Given the description of an element on the screen output the (x, y) to click on. 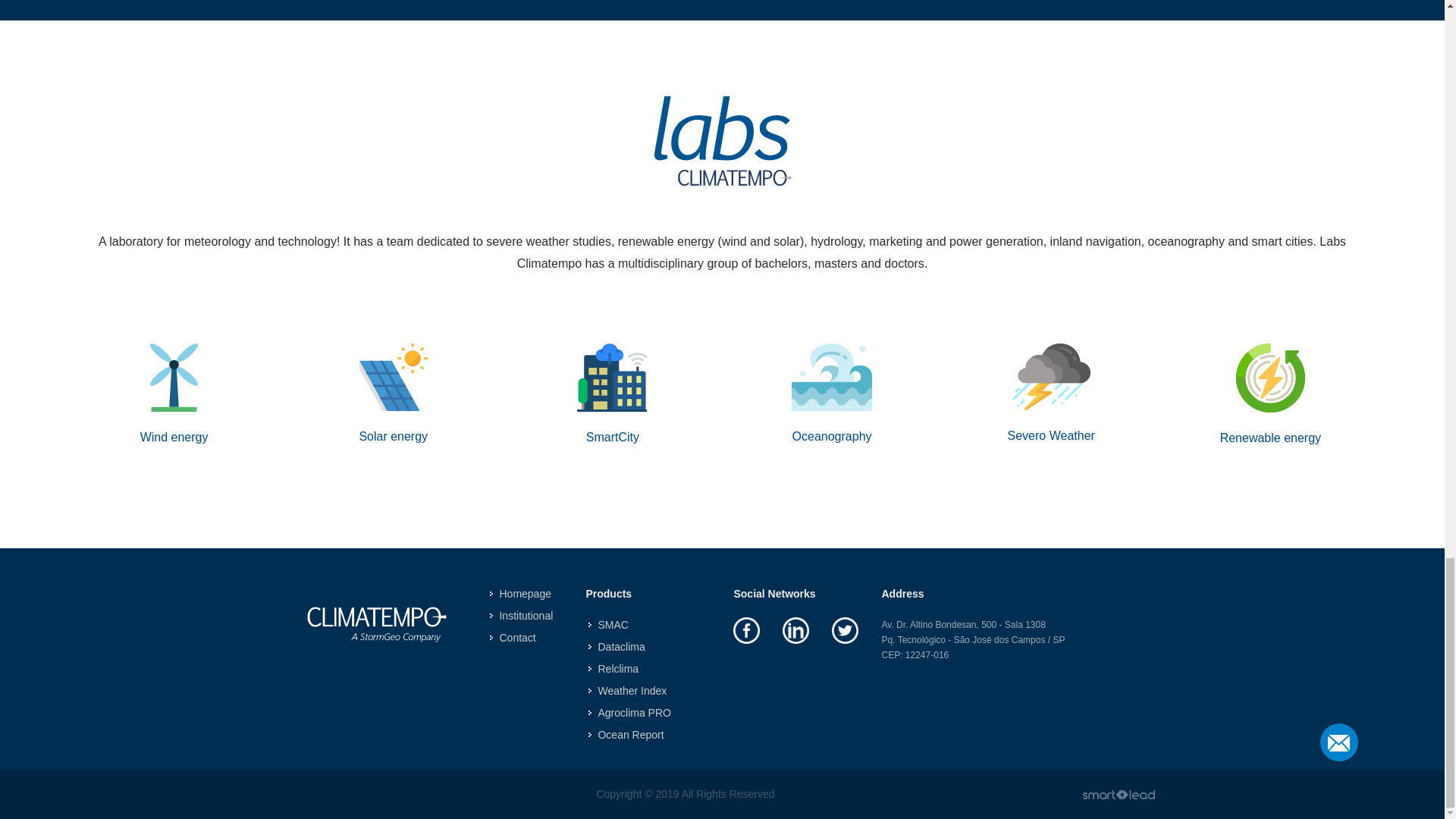
Relclima (614, 668)
Homepage (521, 593)
Weather Index (628, 691)
System development company, websites and digital solutions (1117, 793)
Institutional (521, 616)
Contact (513, 637)
Dataclima (617, 647)
SMAC (609, 625)
